Given the description of an element on the screen output the (x, y) to click on. 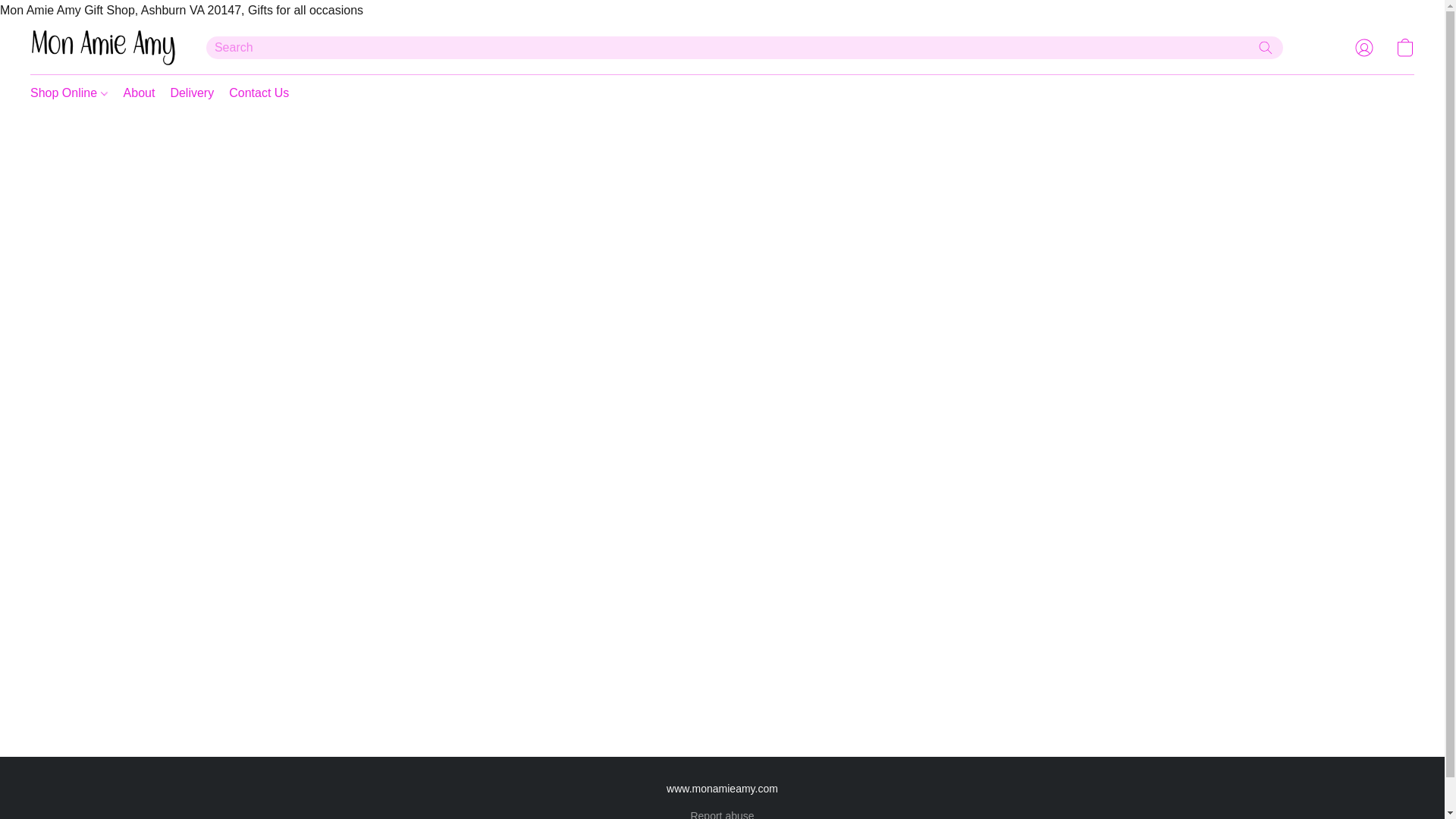
Go to your shopping cart (1404, 47)
About (139, 92)
Shop Online (73, 92)
Report abuse (722, 812)
Delivery (191, 92)
Contact Us (254, 92)
